Given the description of an element on the screen output the (x, y) to click on. 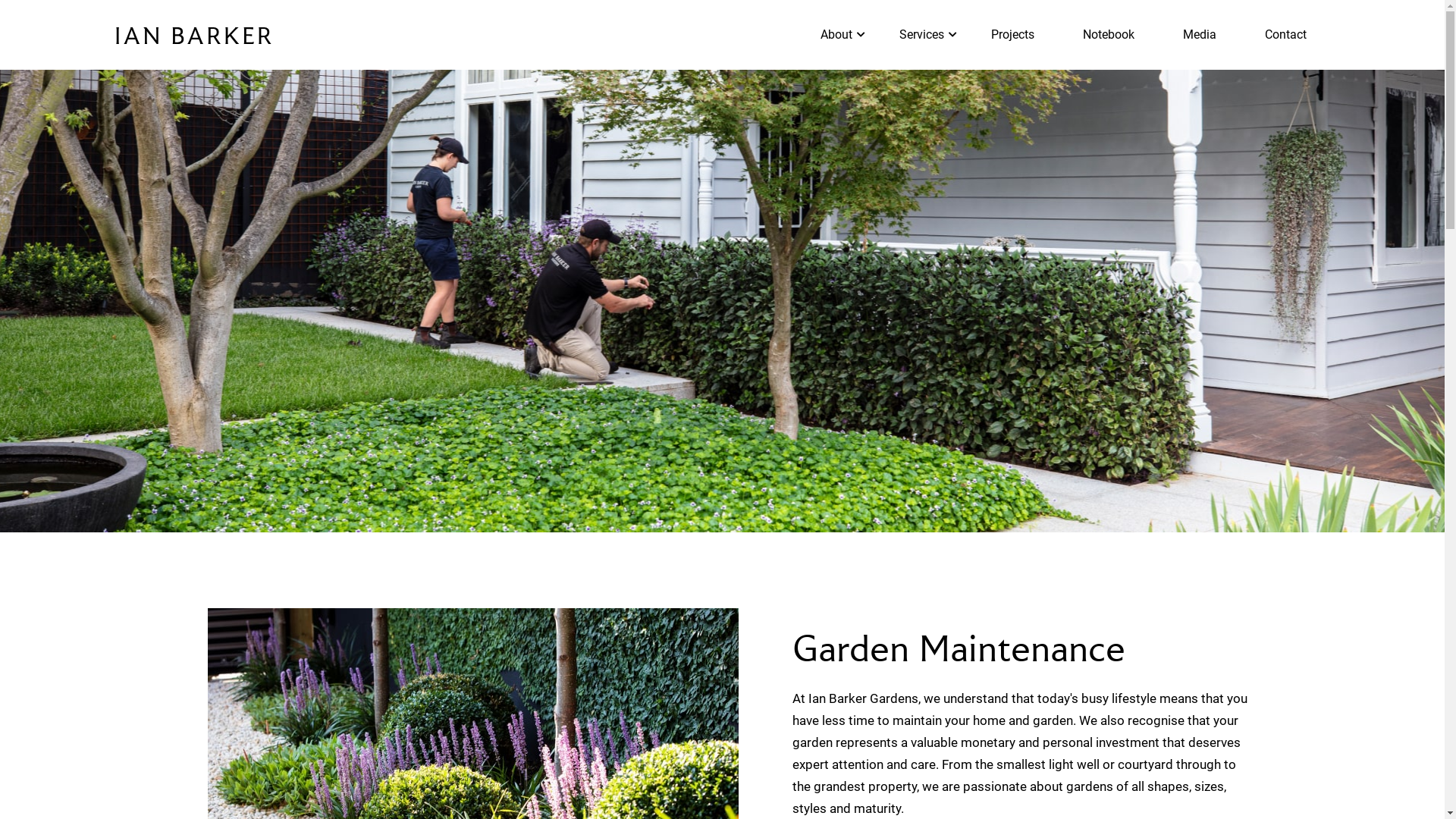
Projects Element type: text (1011, 34)
Services Element type: text (921, 34)
Media Element type: text (1199, 34)
Notebook Element type: text (1108, 34)
About Element type: text (836, 34)
Contact Element type: text (1285, 34)
